Given the description of an element on the screen output the (x, y) to click on. 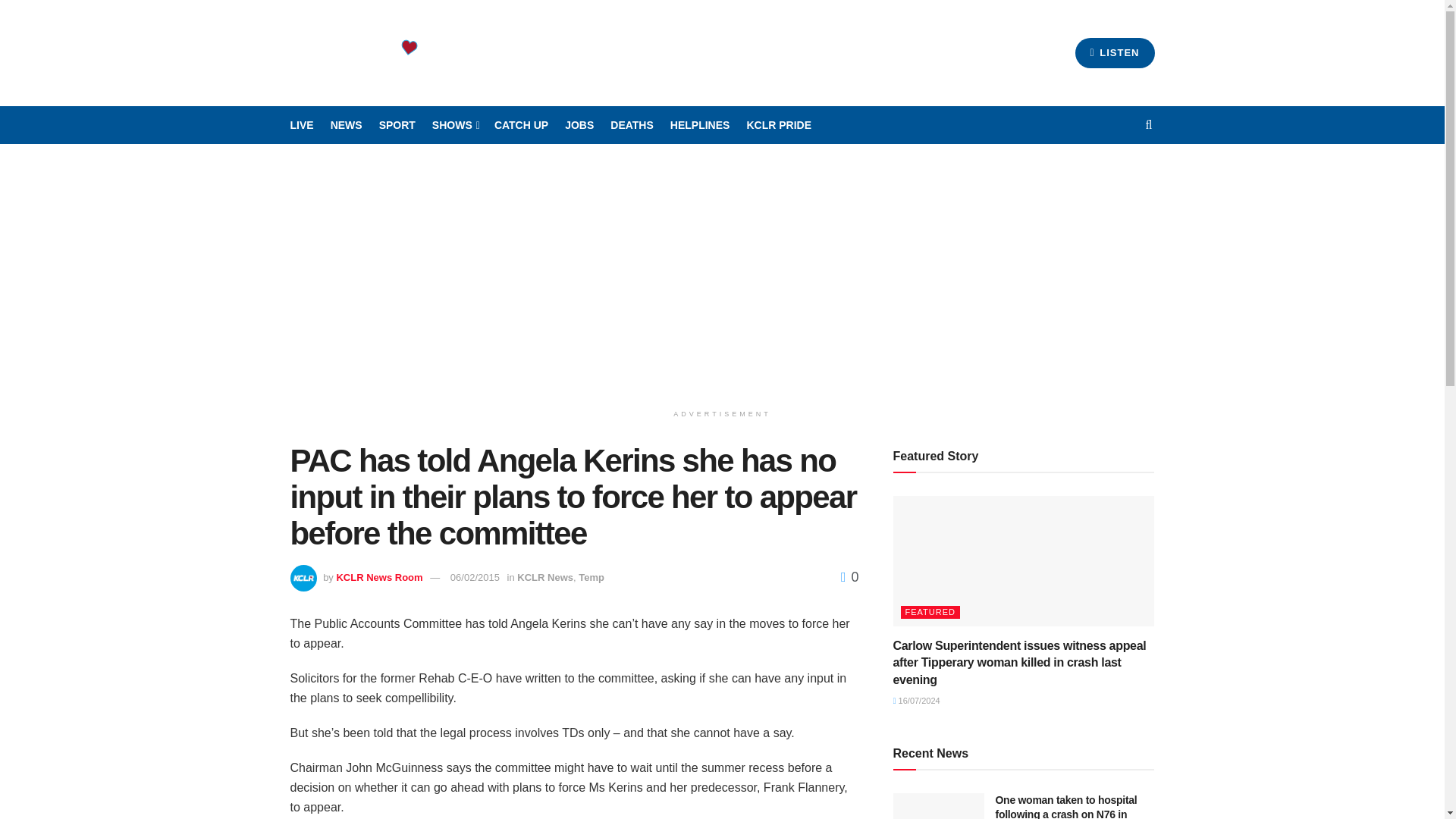
Listen back to KCLR shows (521, 125)
KCLR Sport on Scoreline.ie (396, 125)
DEATHS (631, 125)
HELPLINES (699, 125)
LISTEN (1114, 52)
Carlow and Kilkenny Death Notices (631, 125)
KCLR PRIDE (777, 125)
SPORT (396, 125)
SHOWS (454, 125)
CATCH UP (521, 125)
